Given the description of an element on the screen output the (x, y) to click on. 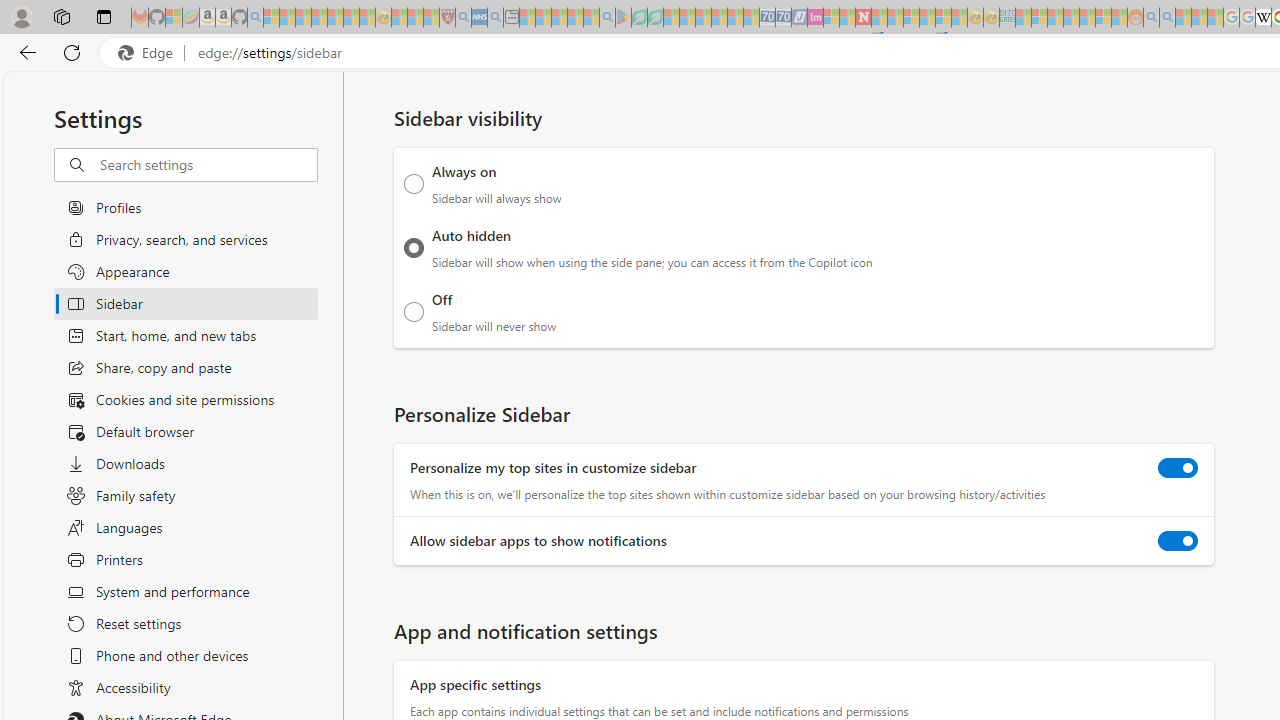
utah sues federal government - Search - Sleeping (495, 17)
Pets - MSN - Sleeping (575, 17)
Bluey: Let's Play! - Apps on Google Play - Sleeping (623, 17)
Personalize my top sites in customize sidebar (1178, 467)
